Given the description of an element on the screen output the (x, y) to click on. 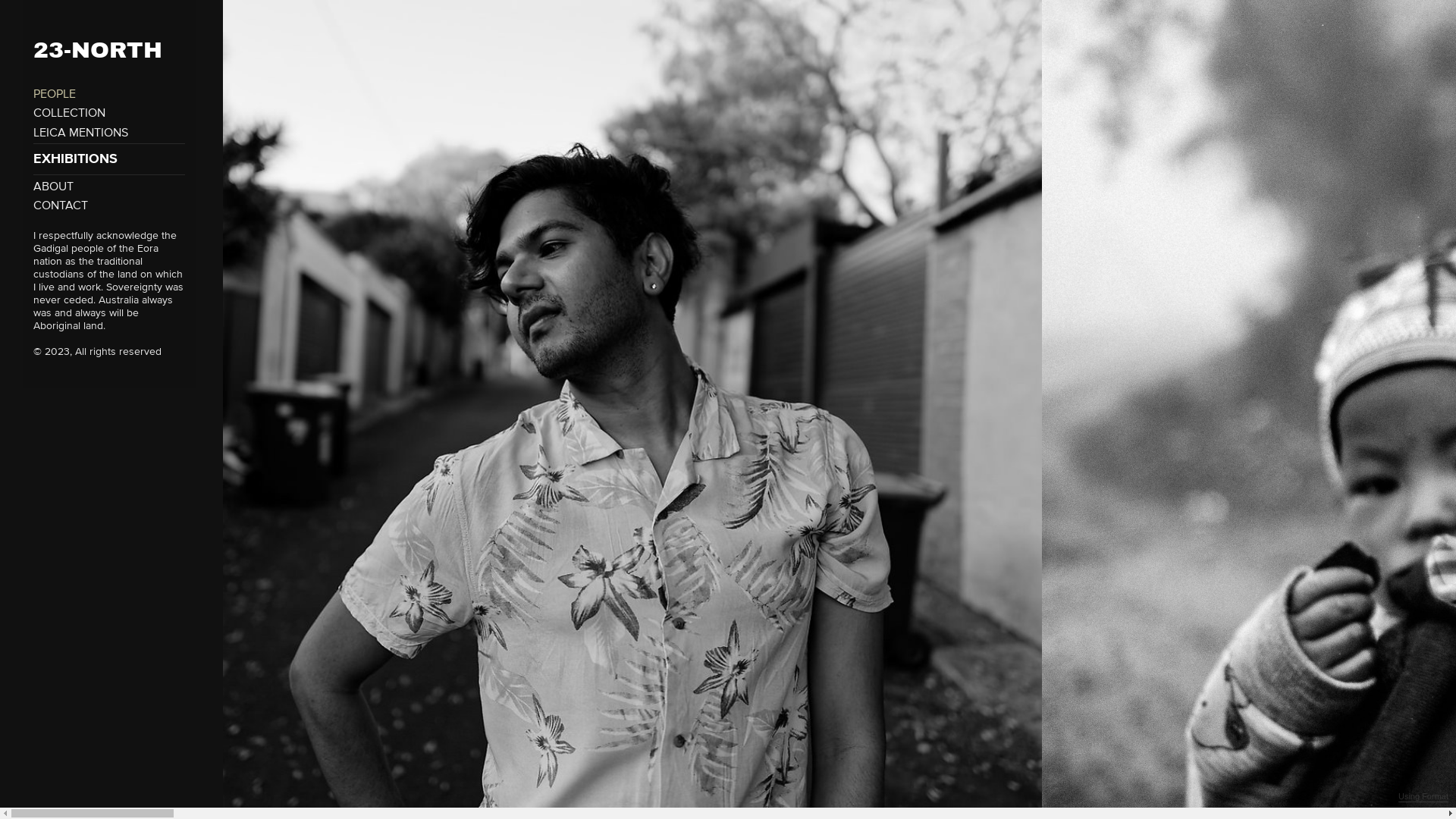
23-NORTH Element type: text (101, 38)
LEICA MENTIONS Element type: text (80, 132)
ABOUT Element type: text (53, 186)
Using Format Element type: text (1423, 796)
EXHIBITIONS Element type: text (109, 159)
PEOPLE Element type: text (54, 93)
COLLECTION Element type: text (69, 112)
CONTACT Element type: text (60, 205)
